Given the description of an element on the screen output the (x, y) to click on. 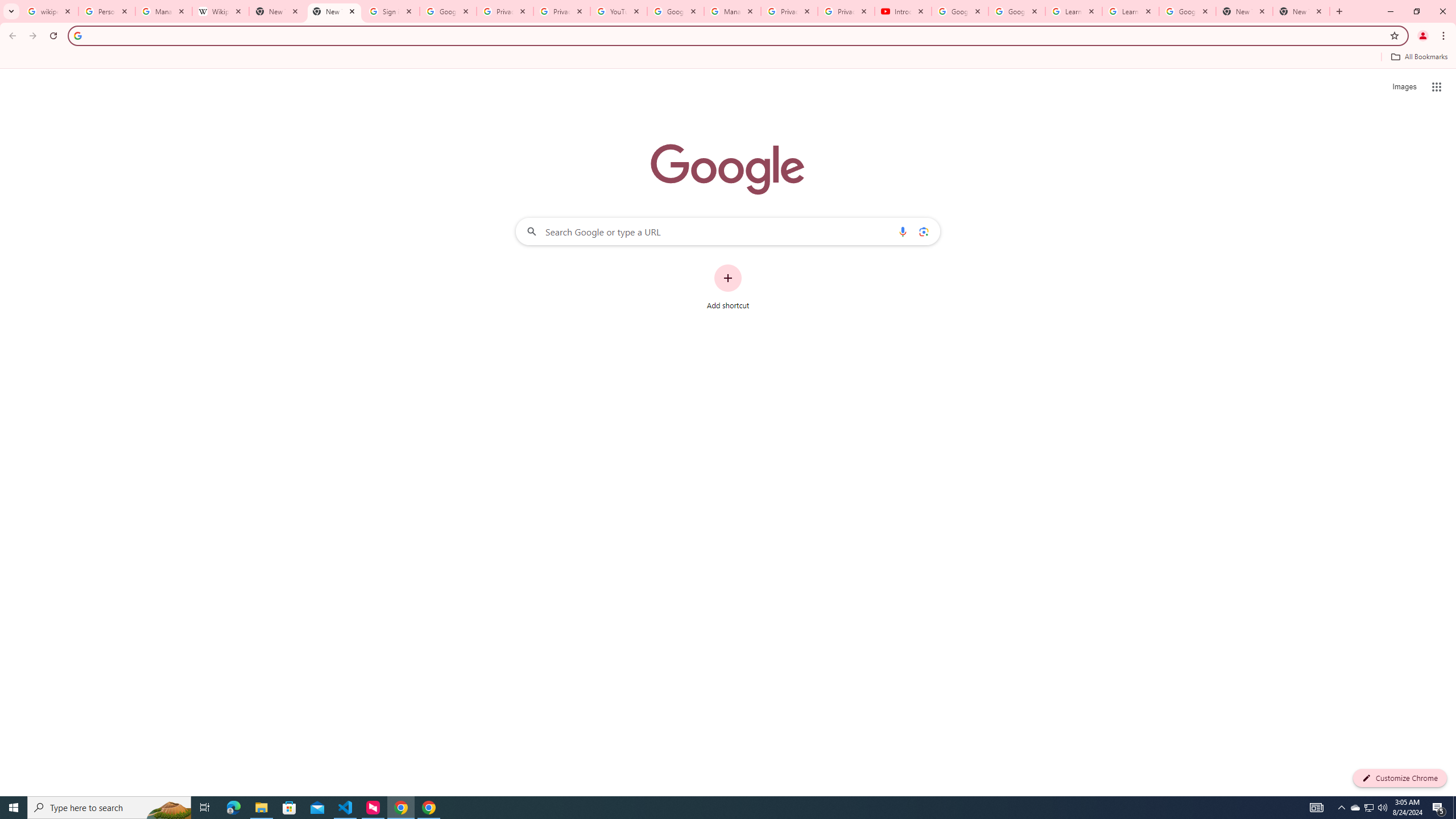
New Tab (1244, 11)
Introduction | Google Privacy Policy - YouTube (902, 11)
Search Google or type a URL (727, 230)
Google Account Help (959, 11)
Personalization & Google Search results - Google Search Help (105, 11)
New Tab (1301, 11)
